Given the description of an element on the screen output the (x, y) to click on. 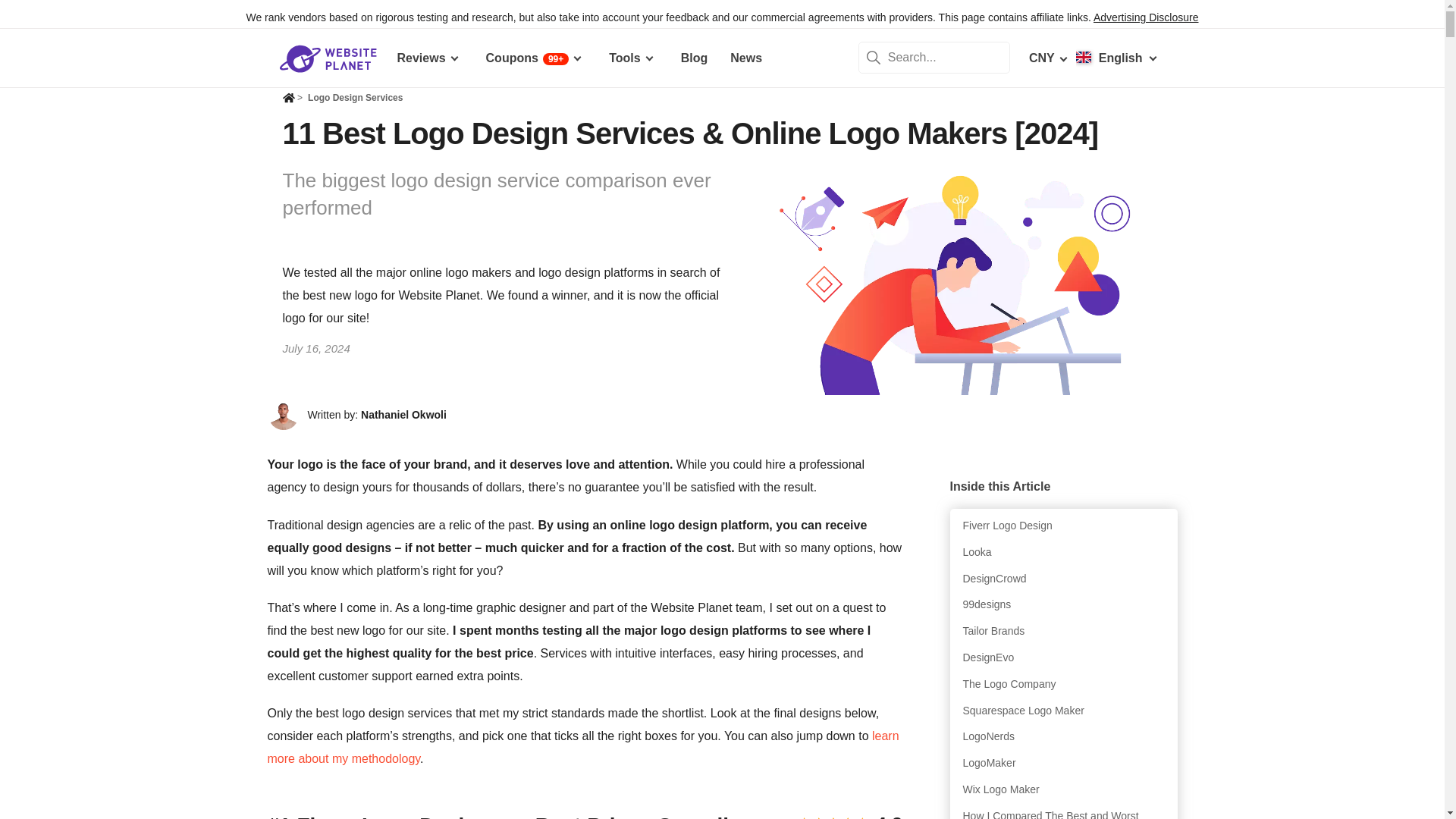
Advertising Disclosure (1145, 17)
Search (873, 57)
Search (873, 57)
